Given the description of an element on the screen output the (x, y) to click on. 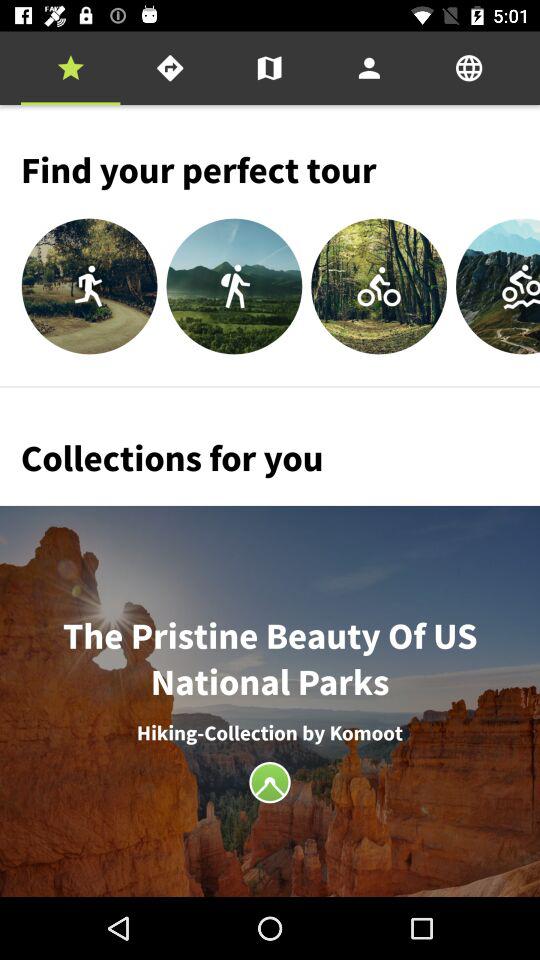
turn on item above find your perfect (369, 68)
